Given the description of an element on the screen output the (x, y) to click on. 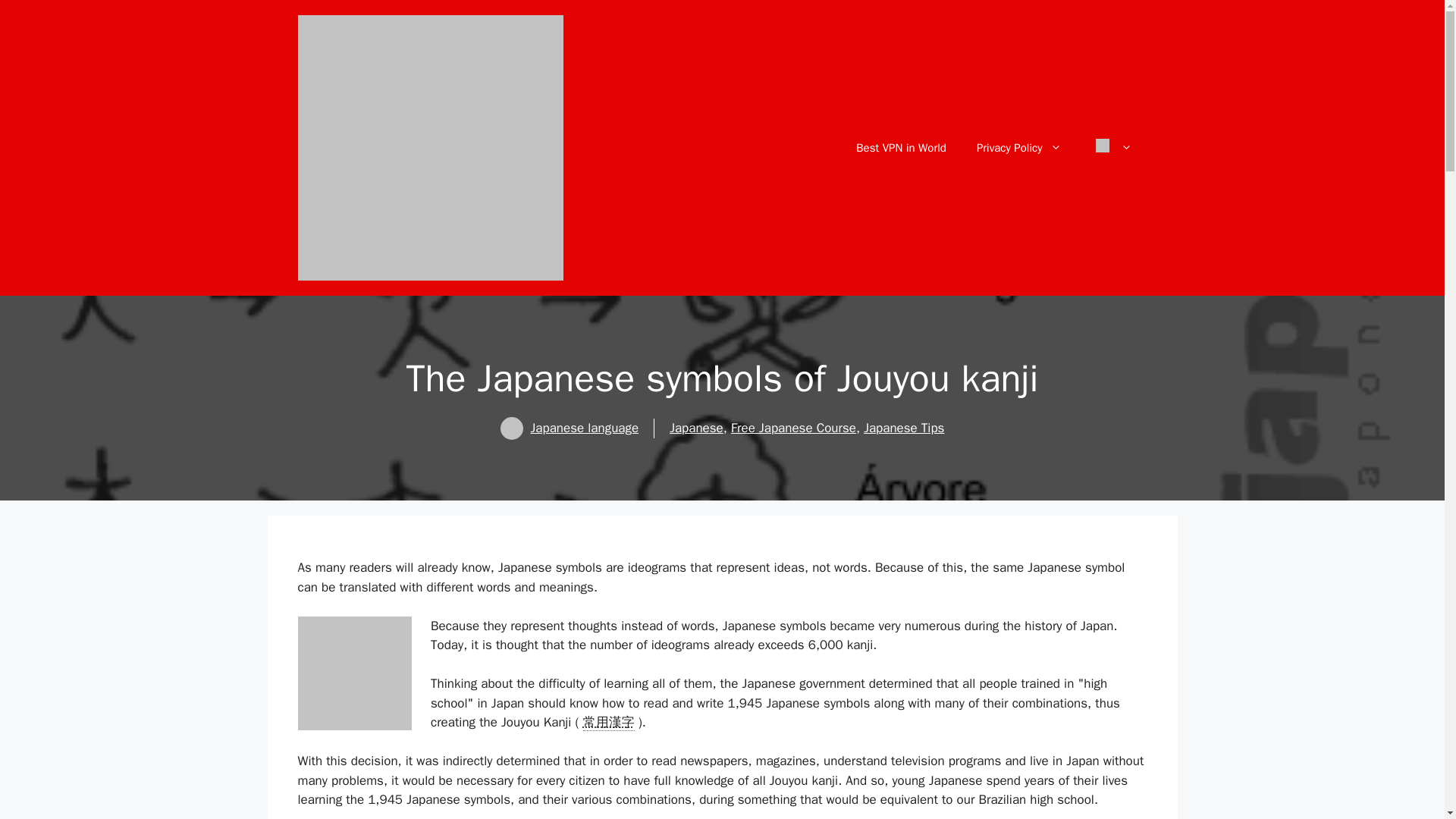
Japanese (696, 427)
Best VPN in World (900, 147)
English (1101, 145)
Privacy Policy (1018, 147)
Best VPN in World (900, 147)
Free Japanese Course (793, 427)
Japanese Tips (903, 427)
Japanese language (585, 427)
